Given the description of an element on the screen output the (x, y) to click on. 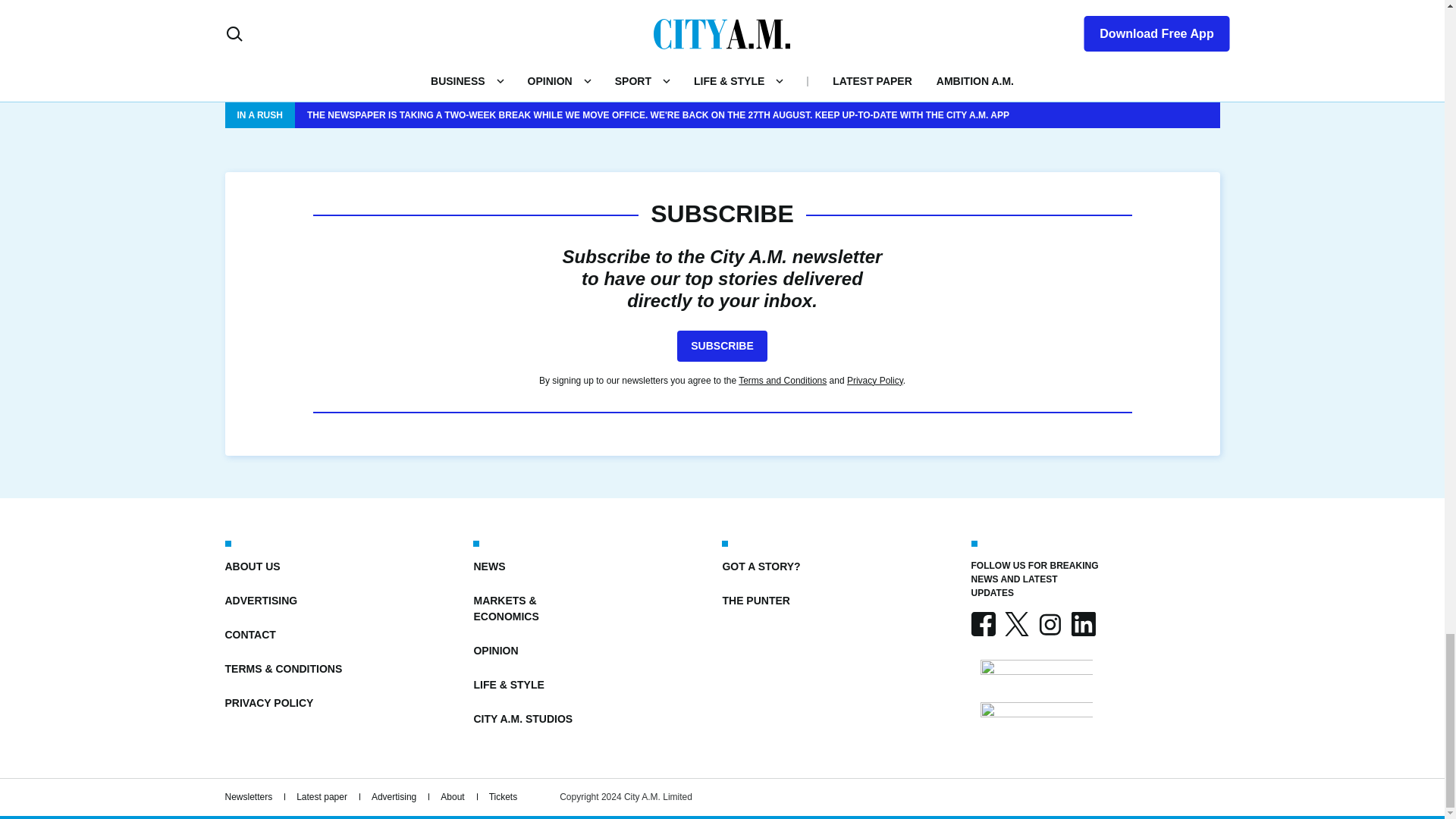
LINKEDIN (1082, 623)
FACEBOOK (982, 623)
INSTAGRAM (1048, 623)
X (1015, 623)
